Given the description of an element on the screen output the (x, y) to click on. 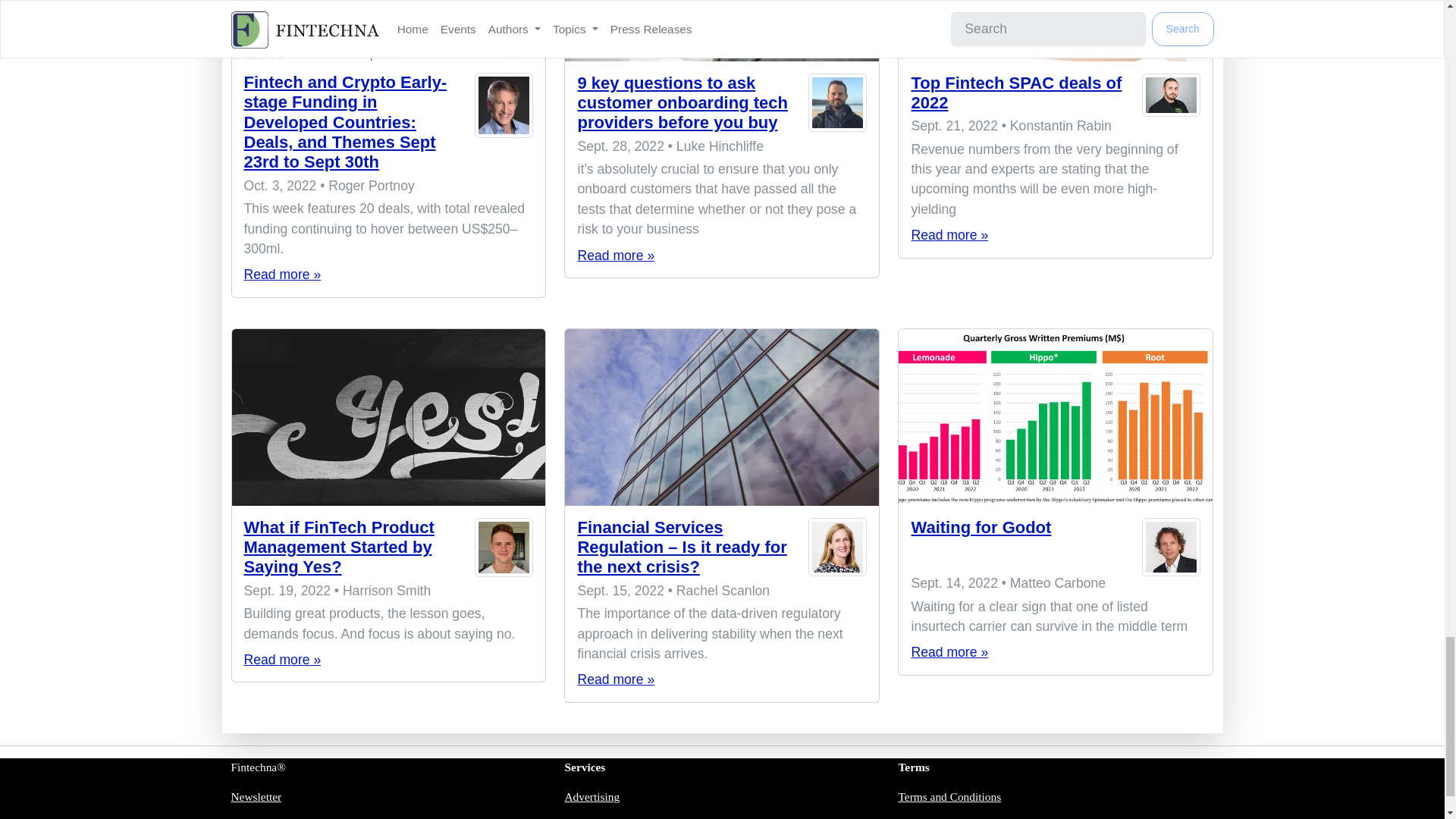
Luke Hinchliffe (837, 105)
Konstantin Rabin (1170, 95)
Top Fintech SPAC deals of 2022 (1055, 30)
Rachel Scanlon (837, 550)
Roger Portnoy (503, 125)
What if FinTech Product Management Started by Saying Yes? (282, 659)
What if FinTech Product Management Started by Saying Yes? (338, 547)
What if FinTech Product Management Started by Saying Yes? (388, 417)
Top Fintech SPAC deals of 2022 (949, 234)
Top Fintech SPAC deals of 2022 (1016, 91)
